Given the description of an element on the screen output the (x, y) to click on. 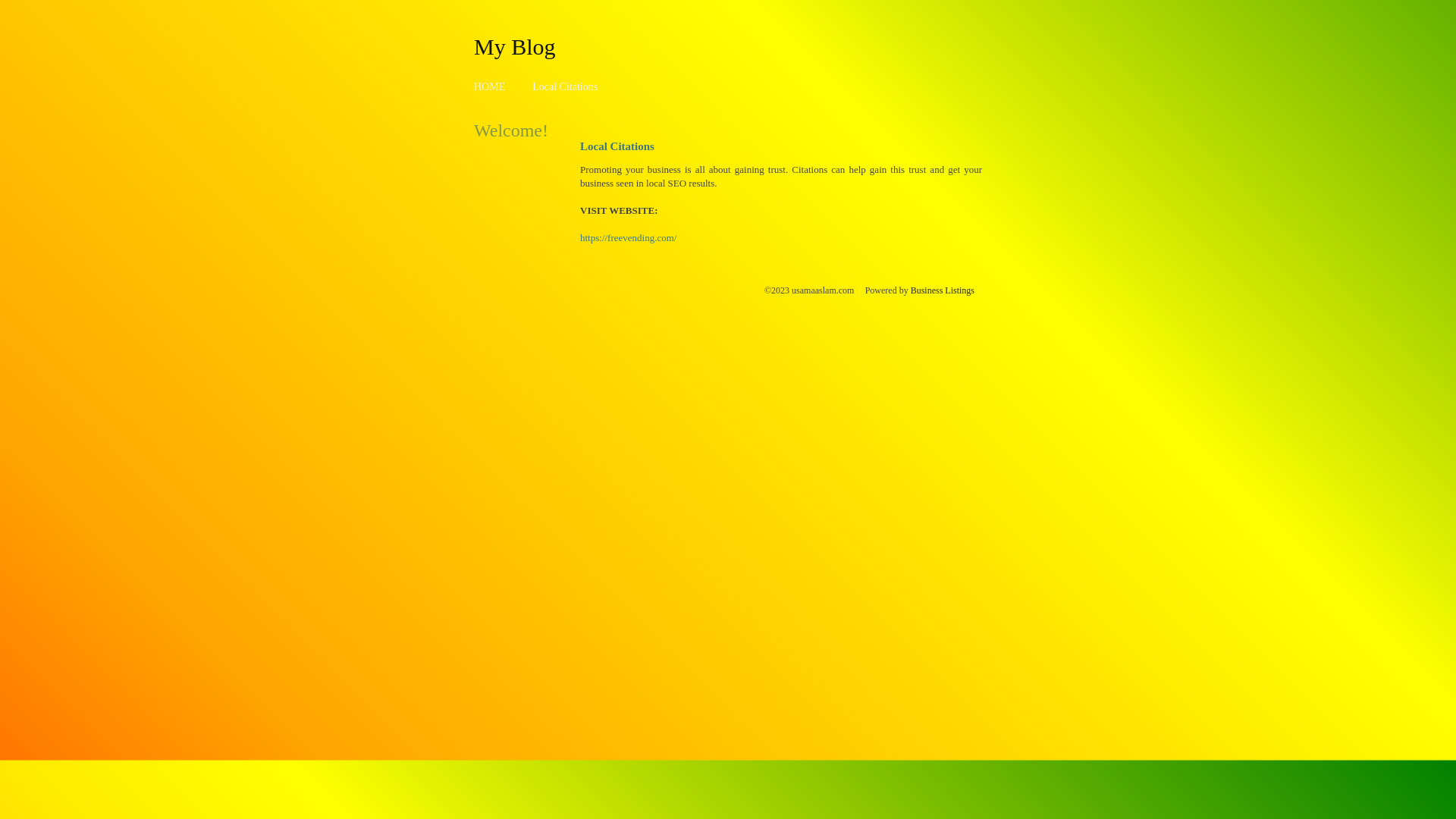
My Blog Element type: text (514, 46)
Business Listings Element type: text (942, 290)
https://freevending.com/ Element type: text (628, 237)
HOME Element type: text (489, 86)
Local Citations Element type: text (564, 86)
